Given the description of an element on the screen output the (x, y) to click on. 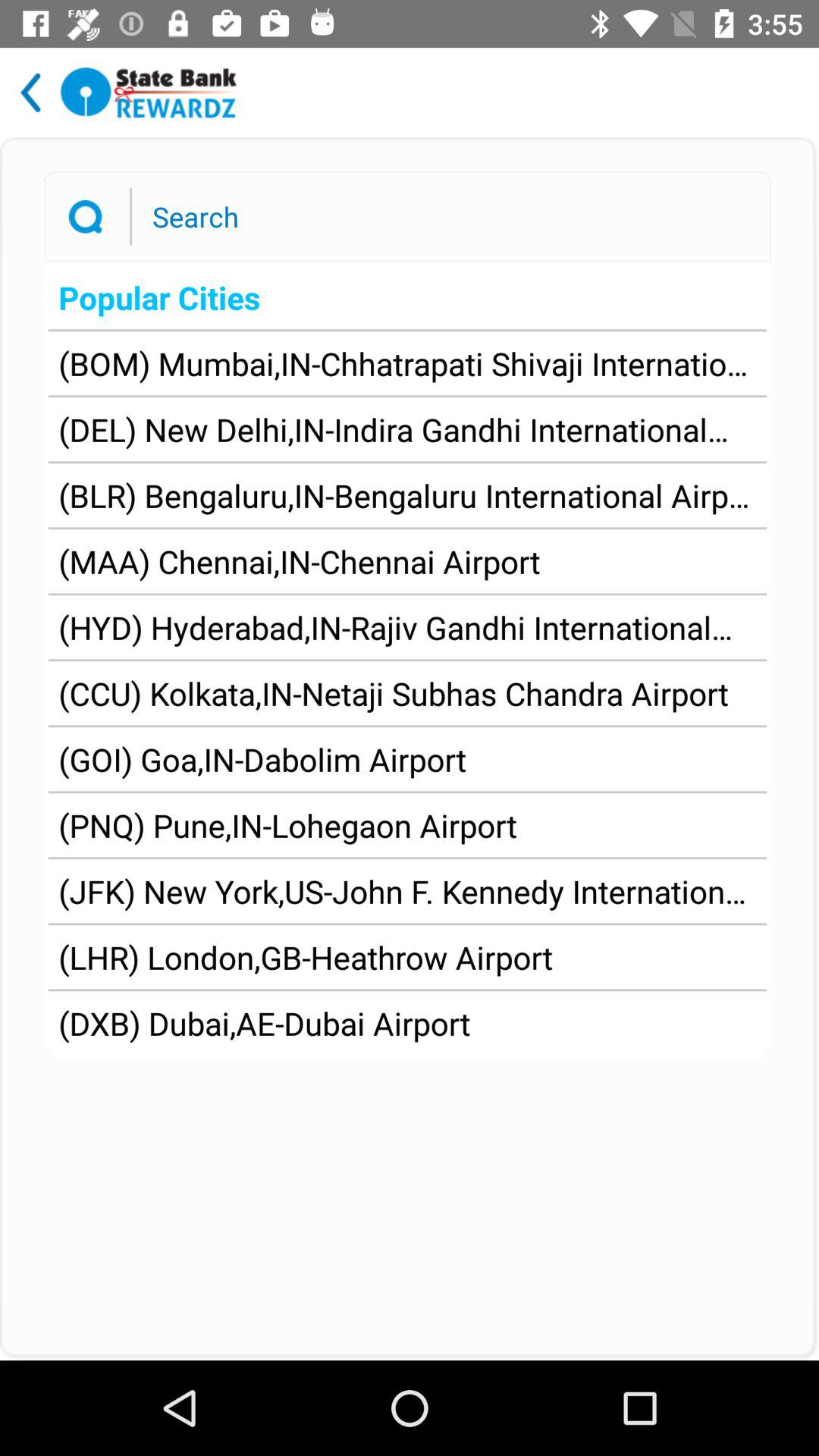
scroll to jfk new york icon (407, 890)
